Given the description of an element on the screen output the (x, y) to click on. 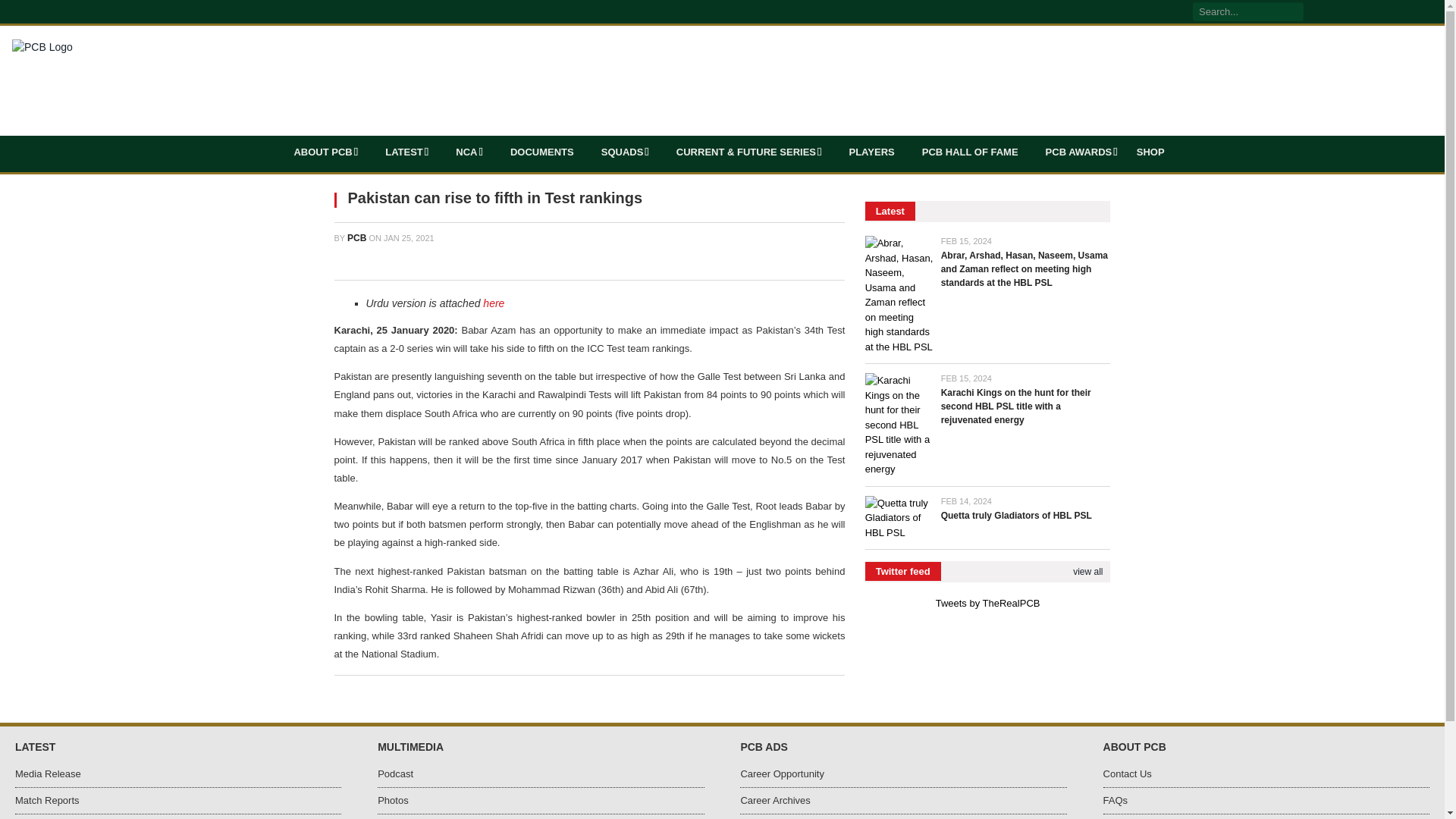
Quetta truly Gladiators of HBL PSL (898, 518)
X (1335, 11)
Facebook (1316, 11)
Instagram (1376, 11)
Youtube (1395, 11)
Pakistan Cricket Board (41, 46)
Whatsapp (1355, 11)
ABOUT PCB (326, 152)
TikTok (1415, 11)
LATEST (406, 152)
